Given the description of an element on the screen output the (x, y) to click on. 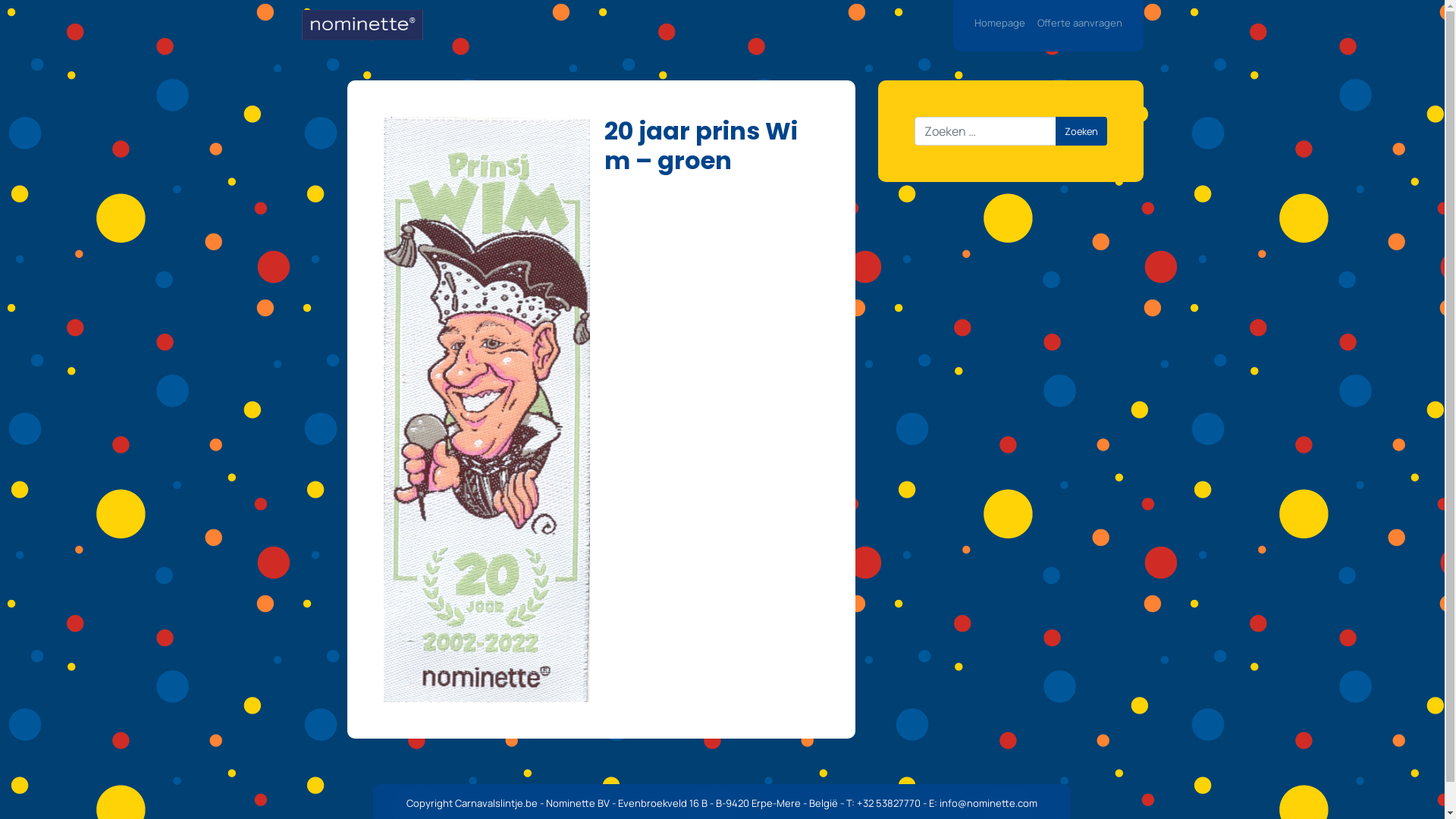
Offerte aanvragen Element type: text (1079, 23)
Zoeken Element type: text (1081, 130)
Homepage Element type: text (998, 23)
Doorgaan naar inhoud Element type: text (1443, 0)
